Given the description of an element on the screen output the (x, y) to click on. 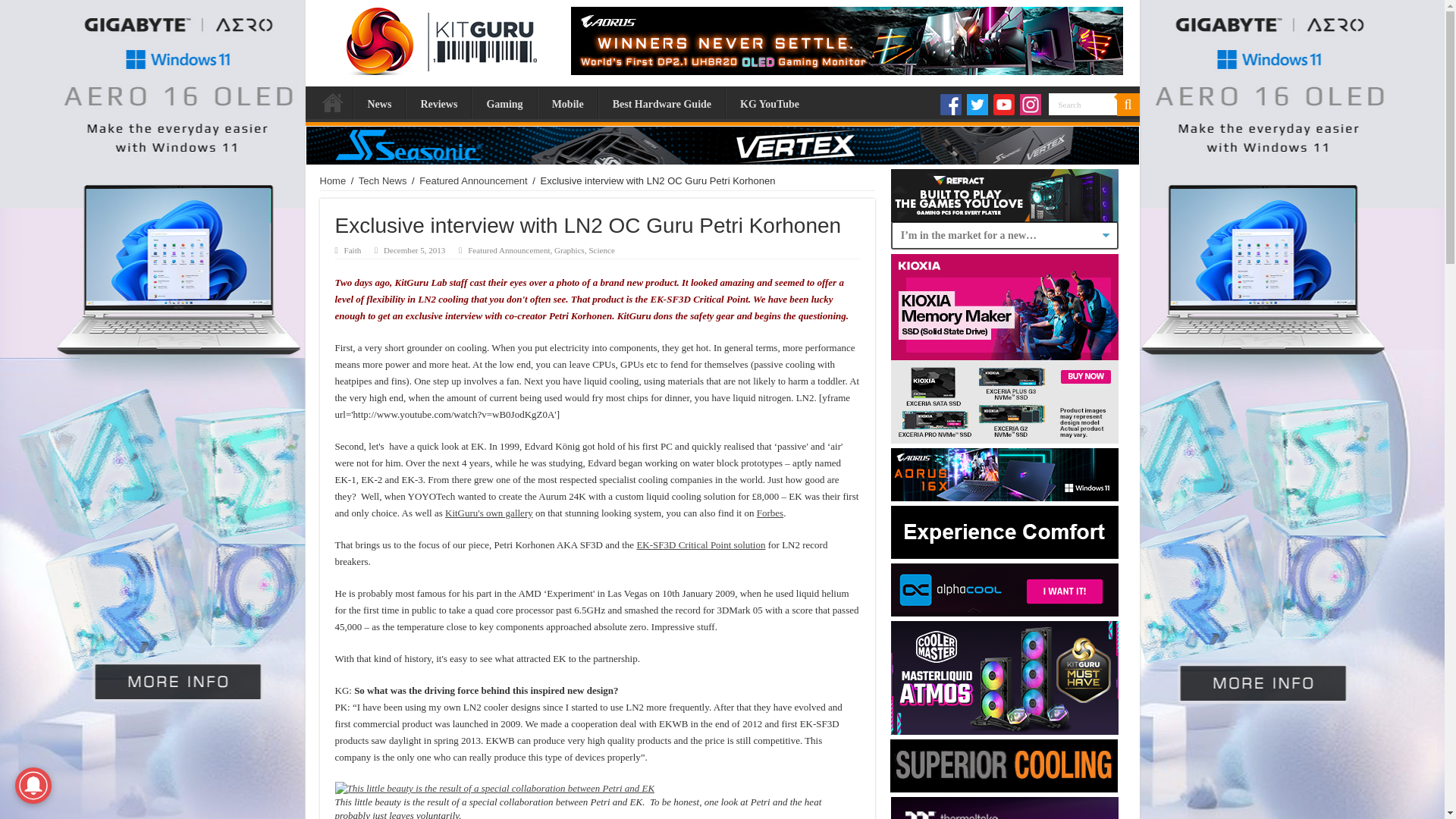
News (379, 101)
Tech News (382, 180)
Search (1082, 104)
Search (1082, 104)
KG YouTube (768, 101)
KitGuru's own gallery (488, 512)
Faith (352, 249)
Search (1127, 104)
Featured Announcement (473, 180)
Featured Announcement (508, 249)
Mobile (566, 101)
Instagram (1030, 104)
Graphics (569, 249)
Best Hardware Guide (661, 101)
Facebook (950, 104)
